Given the description of an element on the screen output the (x, y) to click on. 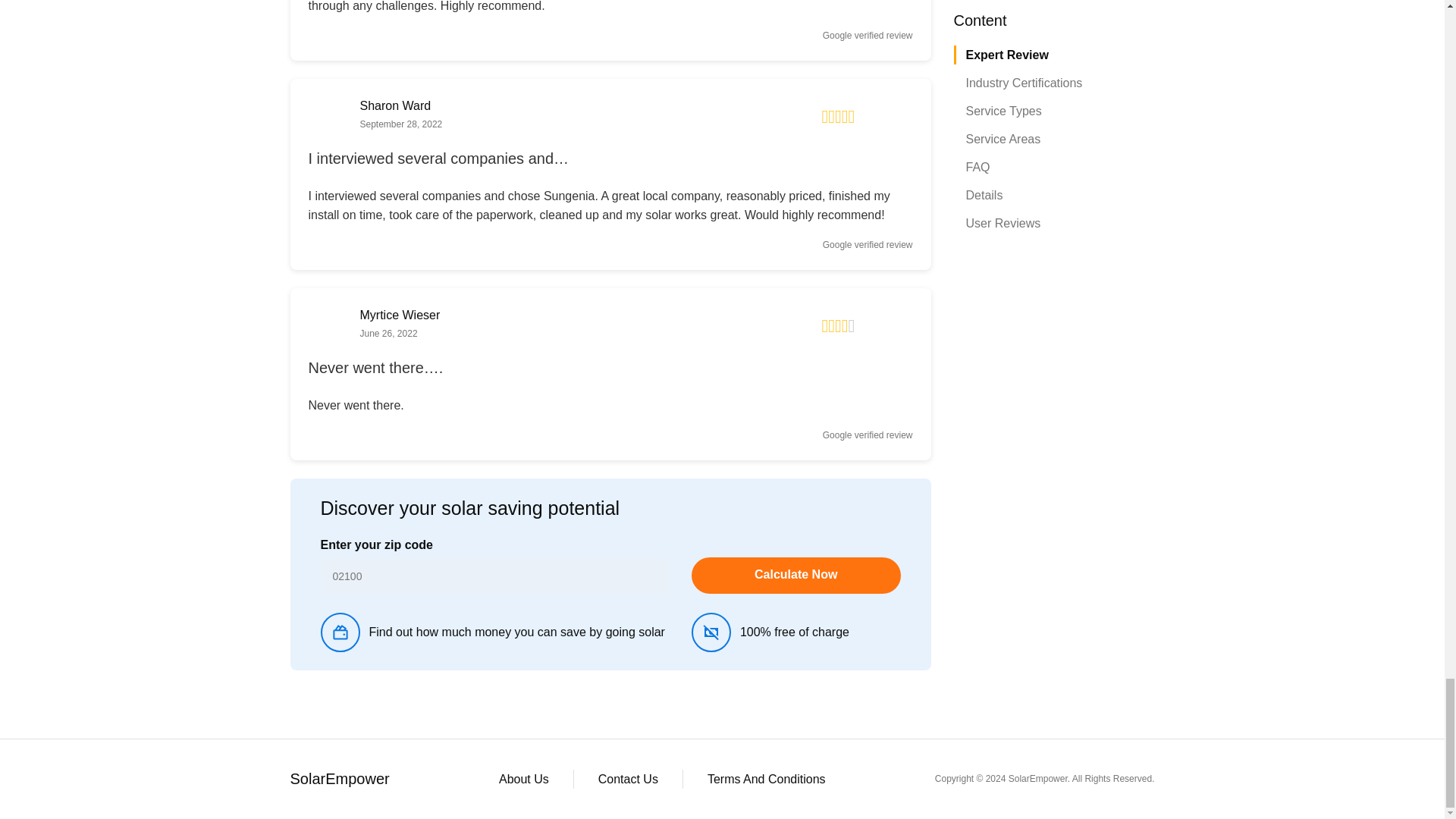
Contact Us (628, 779)
About Us (523, 779)
Terms And Conditions (766, 779)
Calculate Now (796, 575)
SolarEmpower (338, 778)
